Given the description of an element on the screen output the (x, y) to click on. 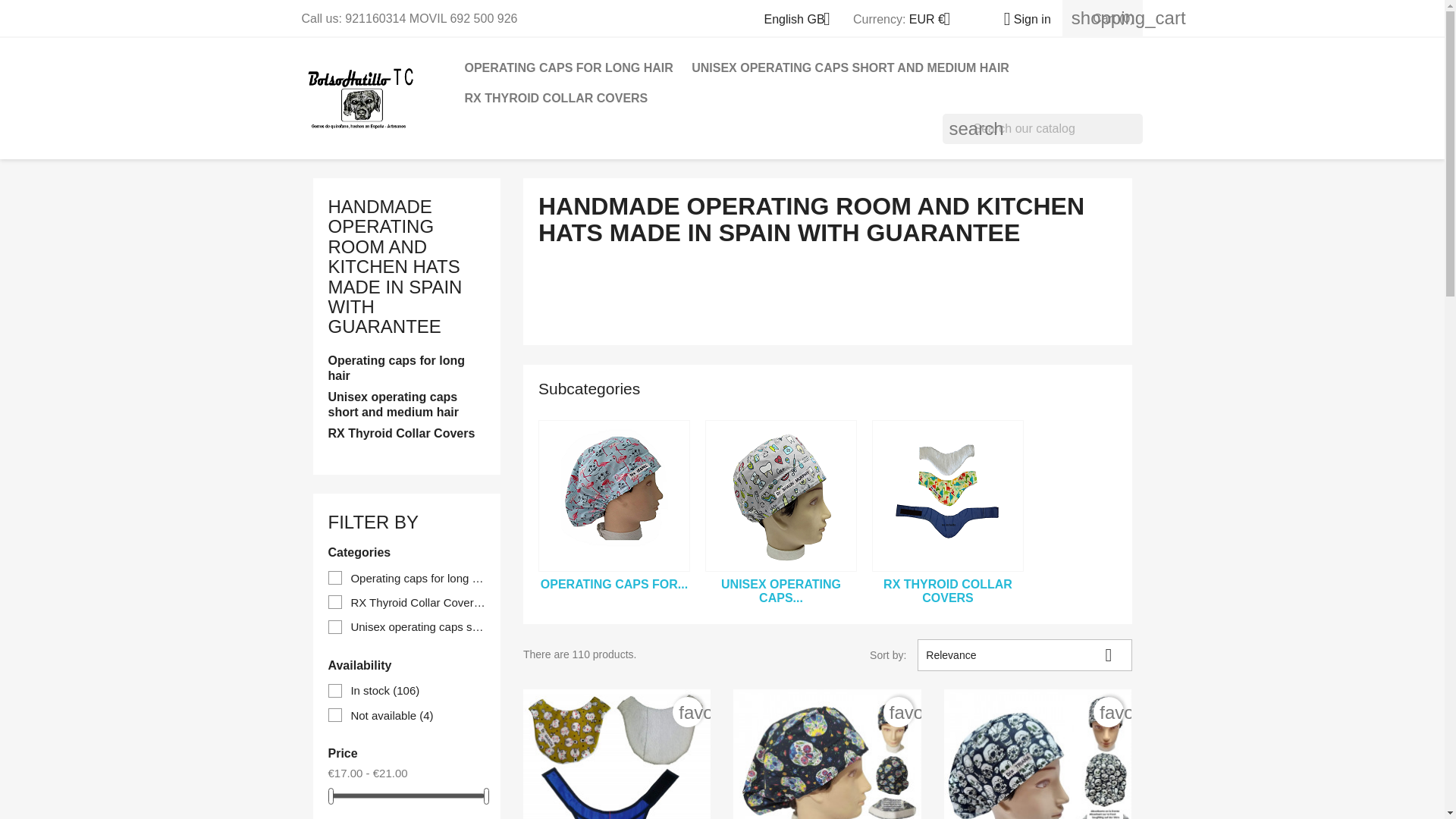
Log in to your customer account (1020, 19)
RX Thyroid Collar Covers (947, 495)
UNISEX OPERATING CAPS SHORT AND MEDIUM HAIR (850, 68)
Operating caps for long hair (405, 368)
Unisex operating caps short and medium hair (405, 405)
RX Thyroid Collar Covers (405, 434)
UNISEX OPERATING CAPS... (780, 591)
OPERATING CAPS FOR... (613, 584)
RX THYROID COLLAR COVERS (947, 591)
